Given the description of an element on the screen output the (x, y) to click on. 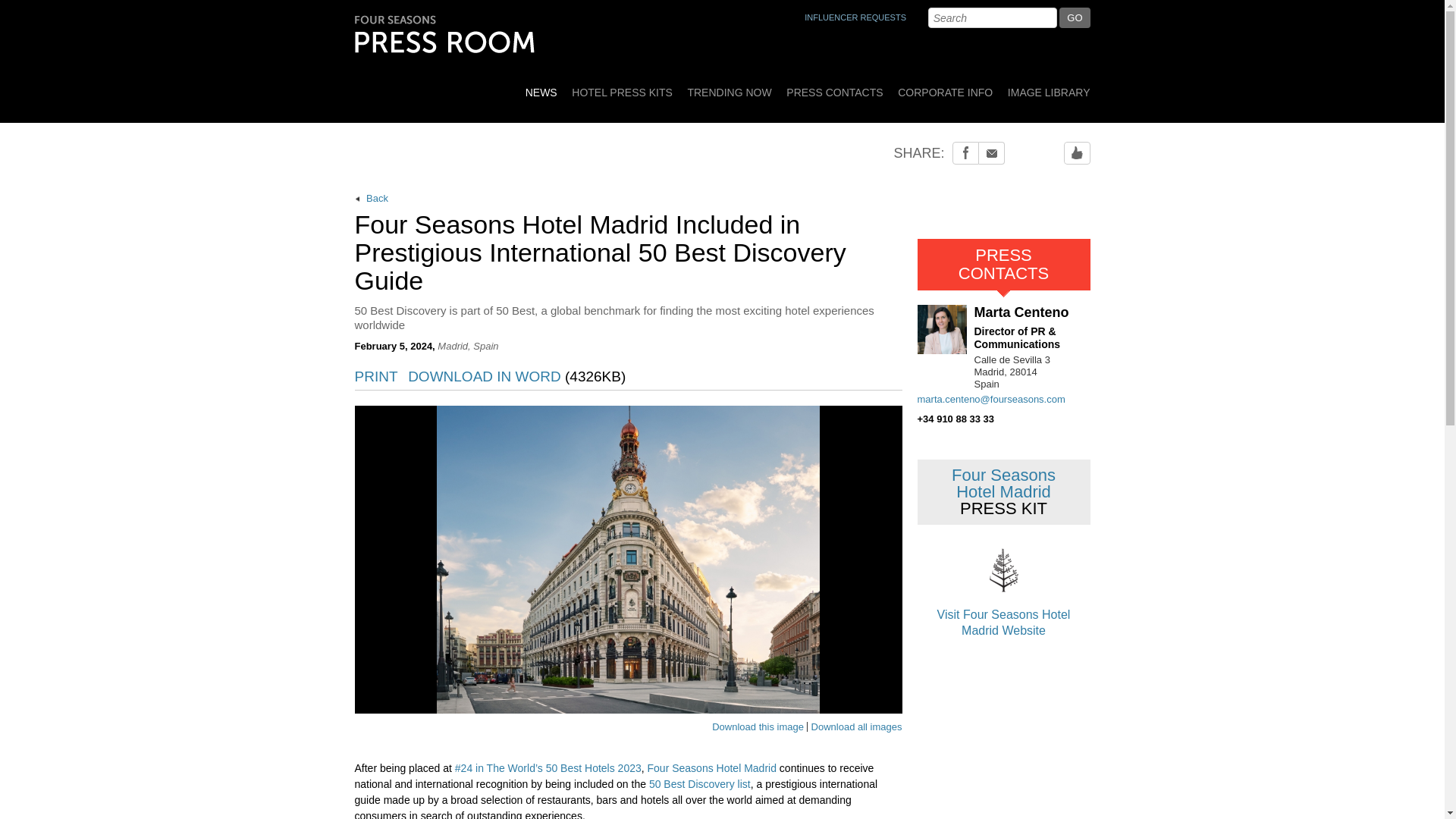
GO (1074, 17)
IMAGE LIBRARY (1045, 87)
Back (628, 198)
50 Best Discovery list (700, 784)
Download all images (854, 726)
PRINT (376, 376)
TRENDING NOW (729, 87)
GO (1074, 17)
CORPORATE INFO (944, 87)
Download this image (757, 726)
HOTEL PRESS KITS (622, 87)
Four Seasons Hotel Madrid (711, 767)
PRESS CONTACTS (834, 87)
NEWS (541, 87)
INFLUENCER REQUESTS (855, 17)
